Given the description of an element on the screen output the (x, y) to click on. 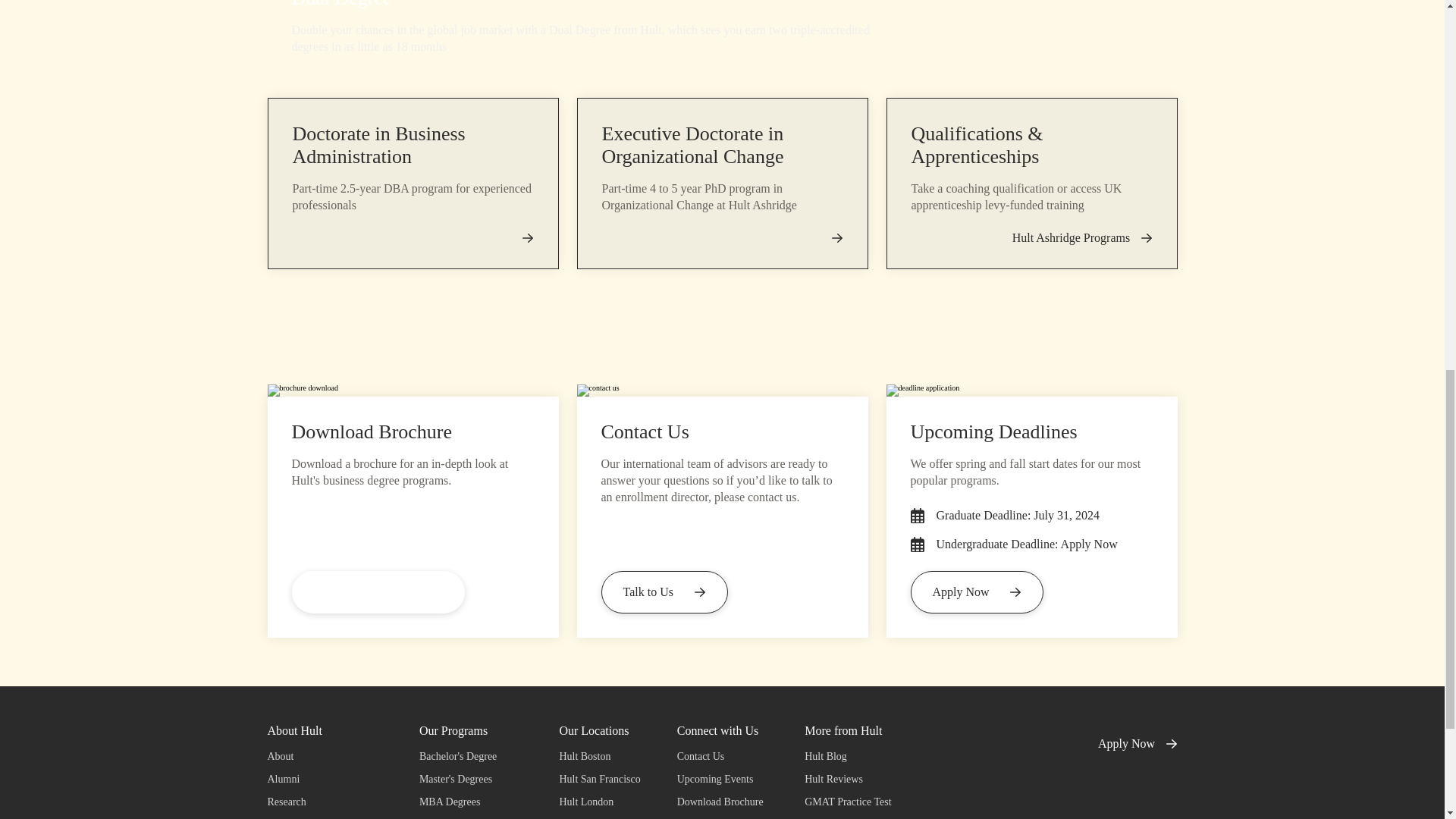
Apply Now (976, 591)
Doctorate in Business Administration (378, 144)
Alumni (323, 779)
Executive Doctorate in Organizational Change (693, 144)
brochure download (411, 390)
Dual Degree (341, 4)
Hult Ashridge Programs (1082, 237)
contact us  (721, 390)
Talk to Us (662, 591)
deadline application (1030, 390)
About (323, 756)
Download Brochure (377, 591)
